Given the description of an element on the screen output the (x, y) to click on. 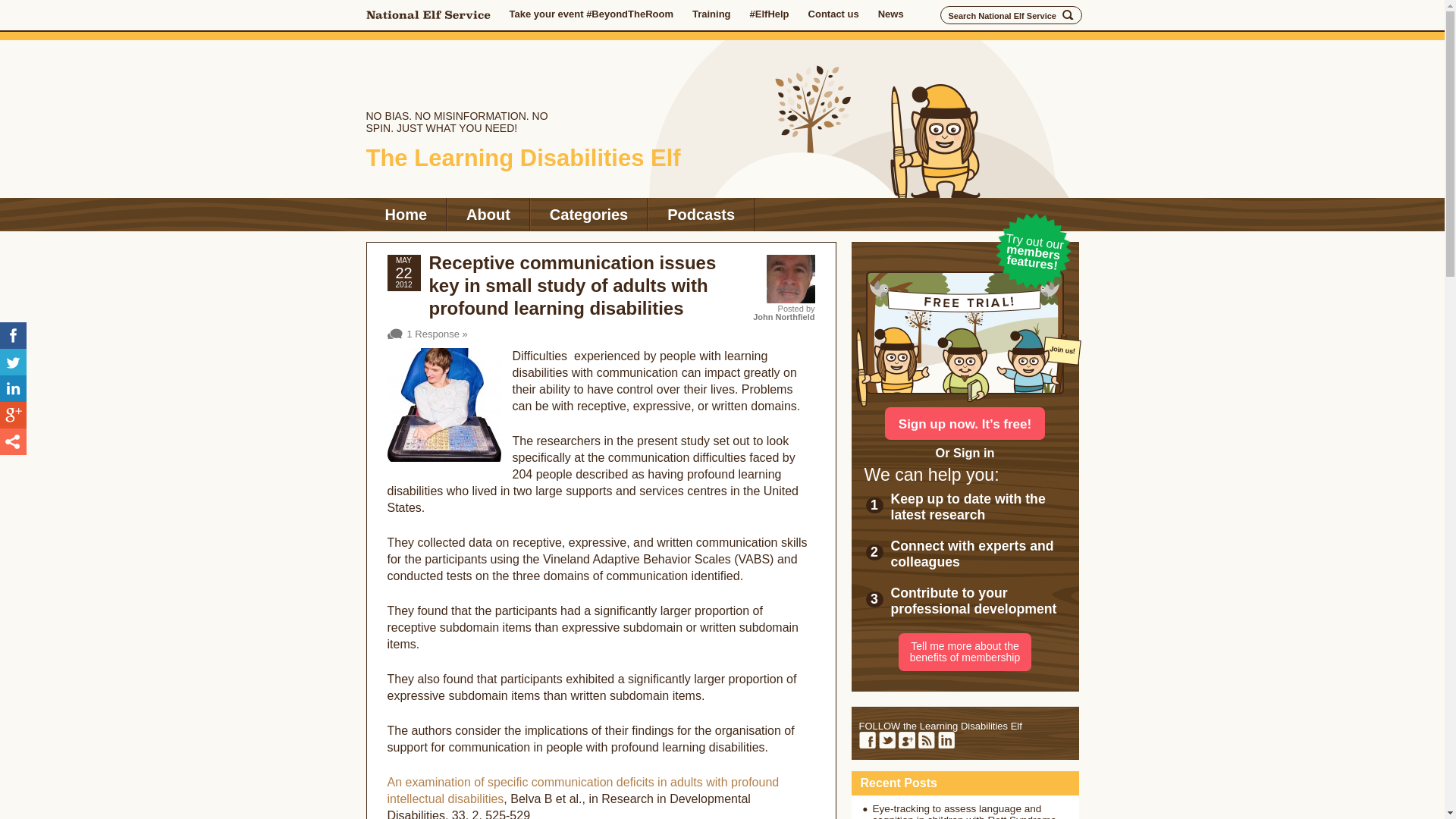
Search (1068, 14)
Share on LinkedIn (13, 388)
About (487, 214)
News (890, 13)
Home (405, 214)
Contact us (833, 13)
Training (711, 13)
Search (1068, 14)
Categories (588, 214)
